Given the description of an element on the screen output the (x, y) to click on. 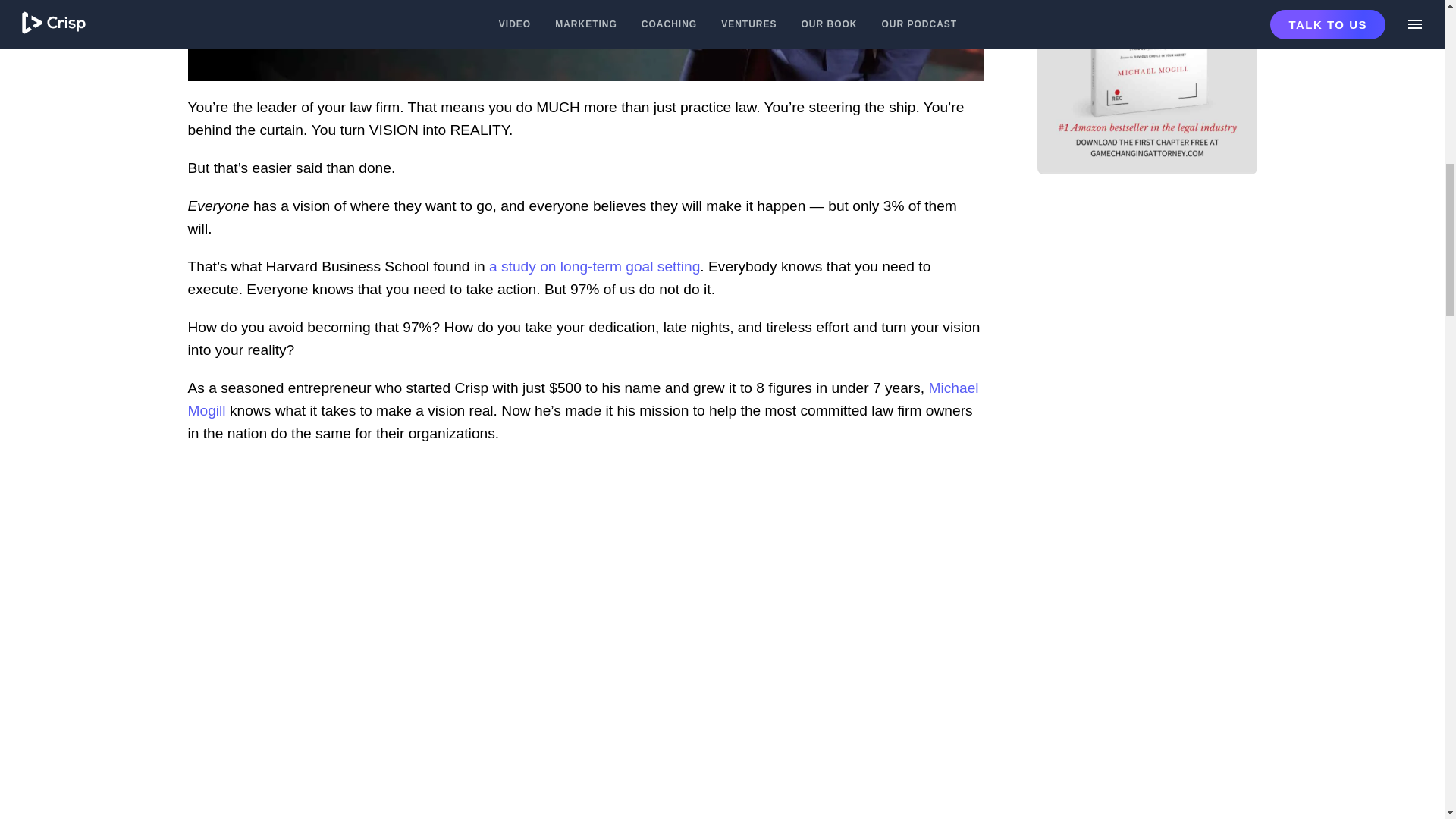
a study on long-term goal setting (594, 266)
Michael Mogill (582, 399)
